Given the description of an element on the screen output the (x, y) to click on. 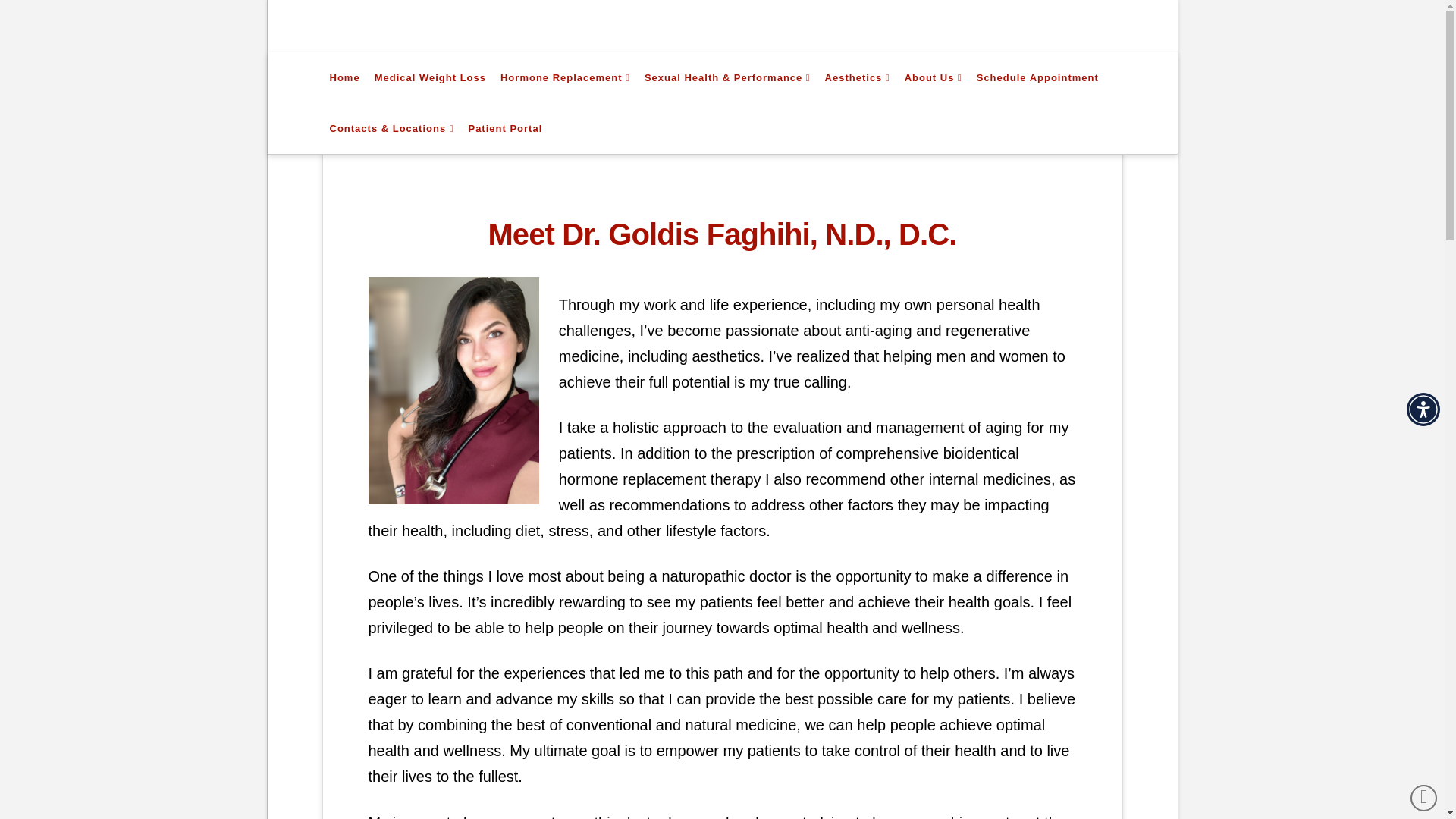
Hormone Replacement (565, 77)
Back to Top (1423, 797)
Accessibility Menu (1422, 409)
About Us (932, 77)
Aesthetics (856, 77)
Medical Weight Loss (429, 77)
Schedule Appointment (1037, 77)
